Given the description of an element on the screen output the (x, y) to click on. 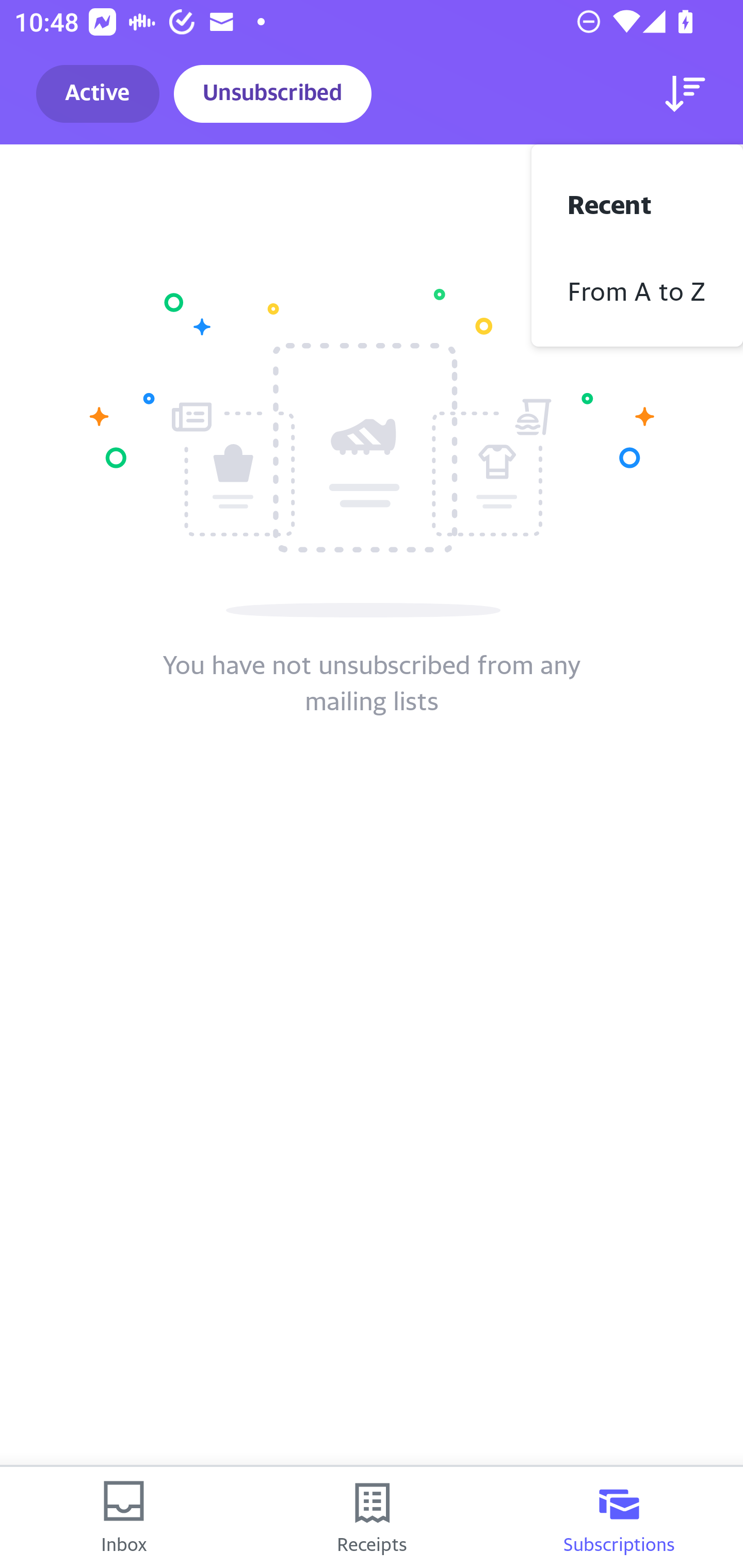
Recent (637, 202)
From A to Z (637, 289)
